Given the description of an element on the screen output the (x, y) to click on. 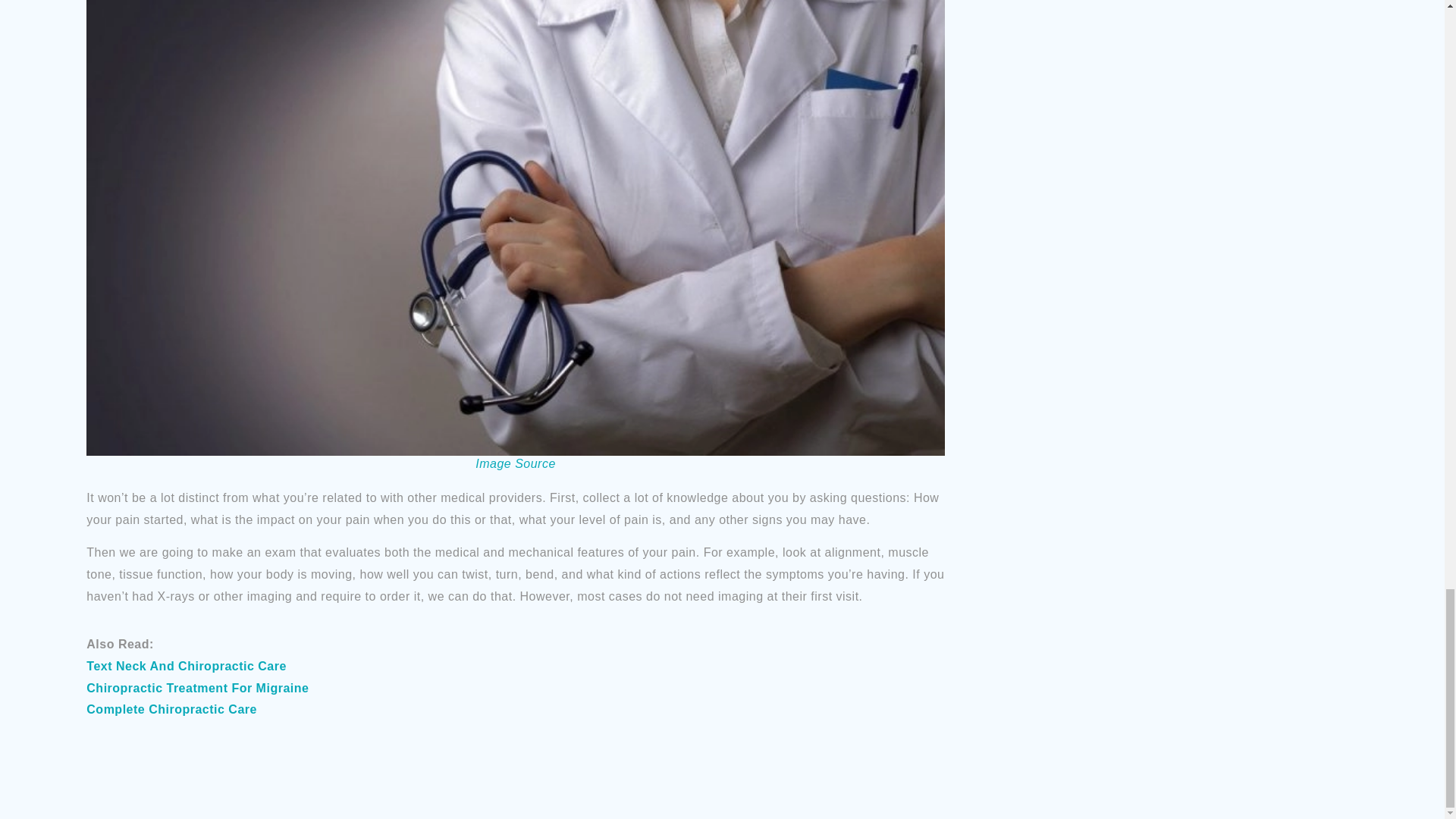
Chiropractic Treatment For Migraine (196, 687)
Complete Chiropractic Care (171, 708)
Image Source (516, 463)
Text Neck And Chiropractic Care (185, 666)
